Given the description of an element on the screen output the (x, y) to click on. 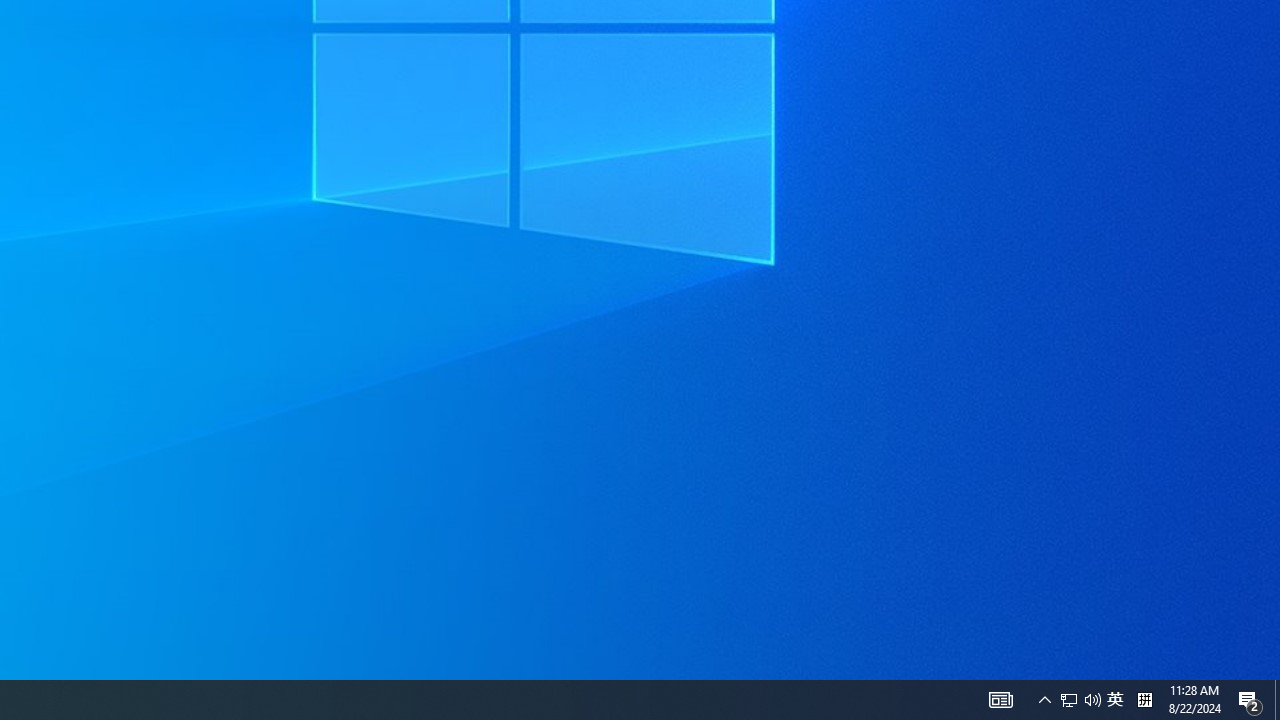
User Promoted Notification Area (1080, 699)
Show desktop (1277, 699)
AutomationID: 4105 (1069, 699)
Action Center, 2 new notifications (1115, 699)
Tray Input Indicator - Chinese (Simplified, China) (1000, 699)
Q2790: 100% (1250, 699)
Notification Chevron (1144, 699)
